Given the description of an element on the screen output the (x, y) to click on. 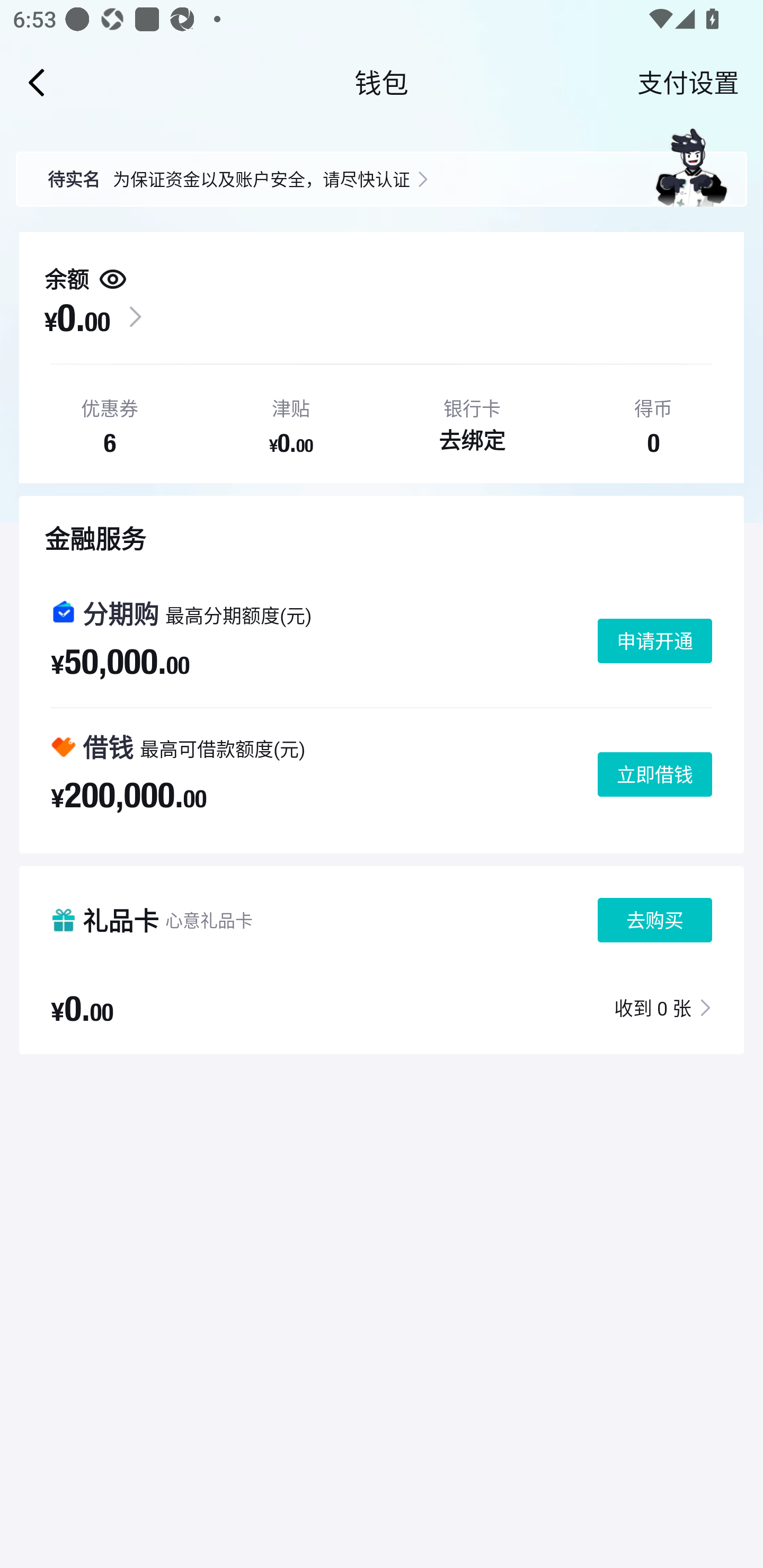
Navigate up (36, 82)
支付设置 (688, 82)
待实名 为保证资金以及账户安全，请尽快认证 (381, 166)
¥0.00 (76, 317)
优惠券 6 (109, 419)
津贴 ¥0.00 (290, 419)
银行卡 去绑定 (472, 419)
得币 0 (653, 419)
分期购 最高分期额度(元) ¥ 50,000.00 申请开通 (381, 641)
借钱 最高可借款额度(元) ¥ 200,000.00 立即借钱 (381, 774)
¥ 0.00 收到 0 张 (381, 1007)
